Given the description of an element on the screen output the (x, y) to click on. 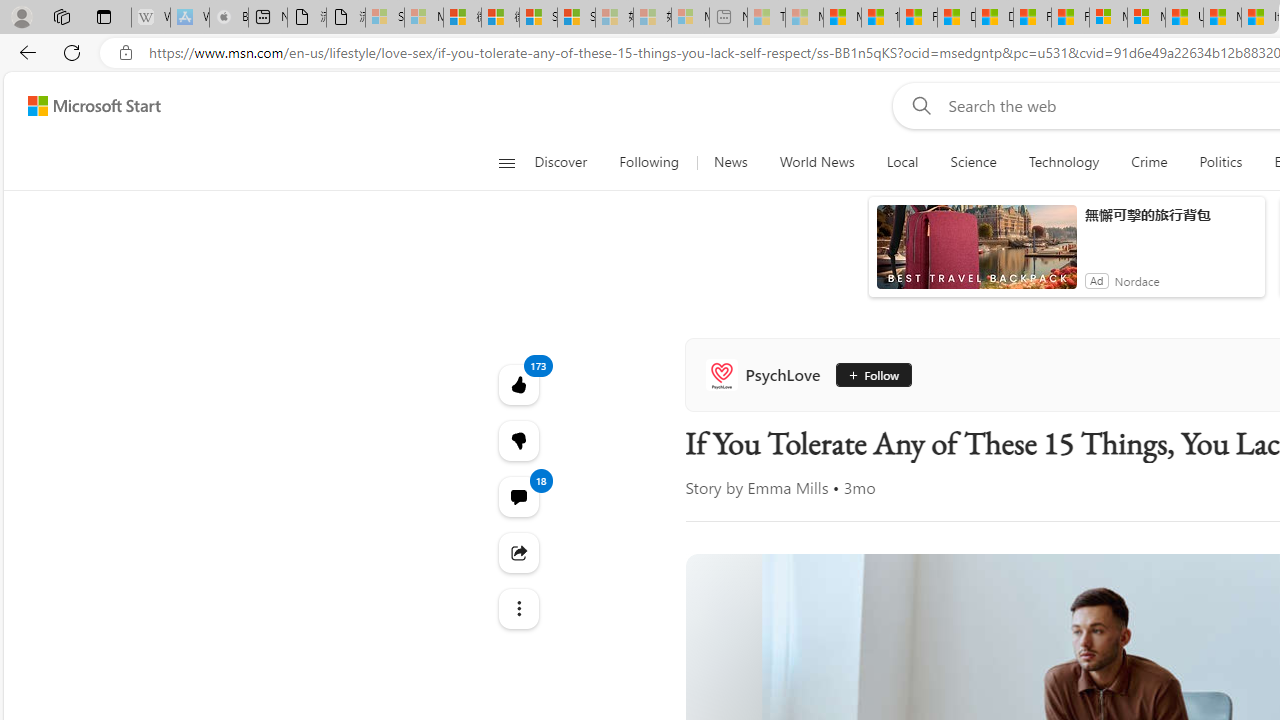
Skip to content (86, 105)
Microsoft Services Agreement - Sleeping (423, 17)
Food and Drink - MSN (917, 17)
Top Stories - MSN - Sleeping (765, 17)
Buy iPad - Apple - Sleeping (228, 17)
Foo BAR | Trusted Community Engagement and Contributions (1070, 17)
US Heat Deaths Soared To Record High Last Year (1184, 17)
Politics (1220, 162)
PsychLove (767, 374)
